Given the description of an element on the screen output the (x, y) to click on. 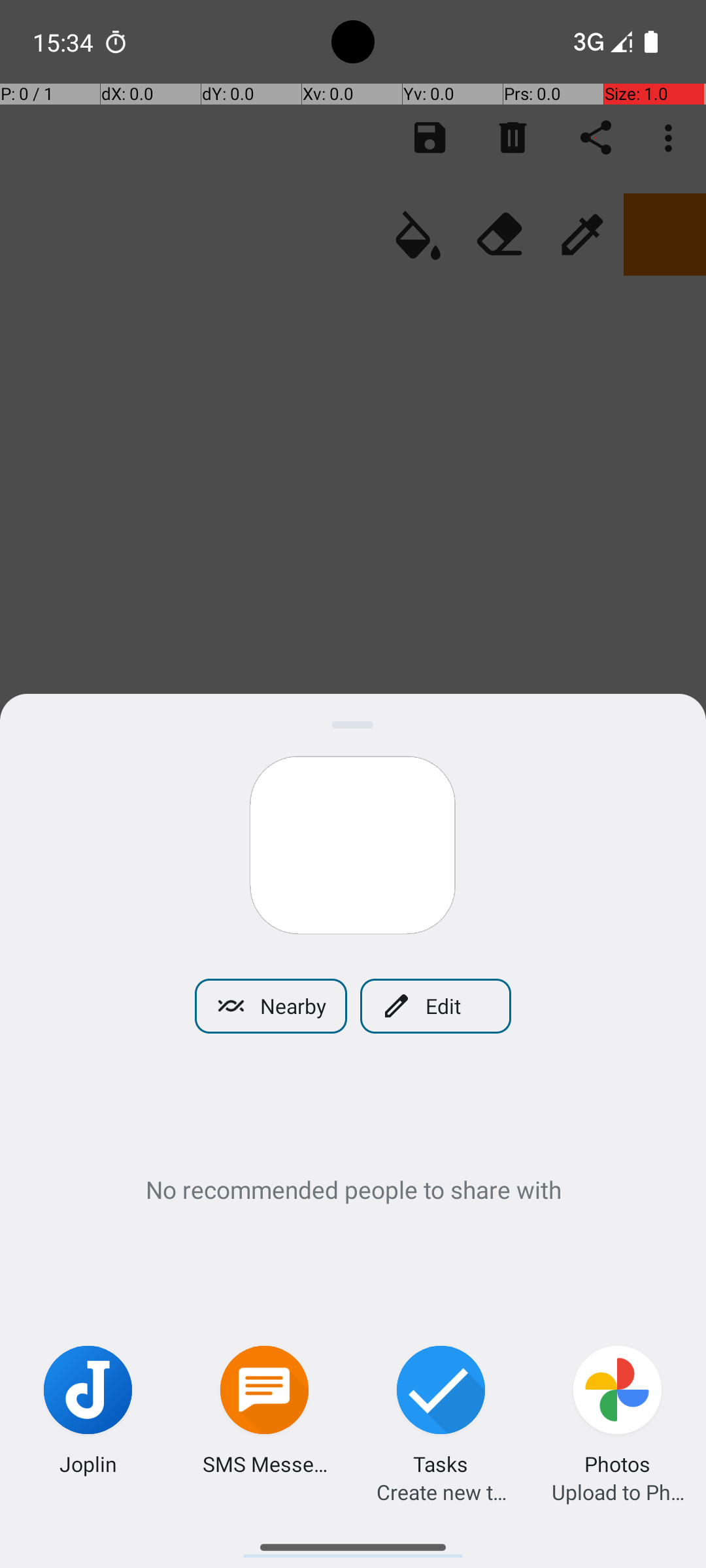
Upload to Photos Element type: android.widget.TextView (617, 1491)
